Given the description of an element on the screen output the (x, y) to click on. 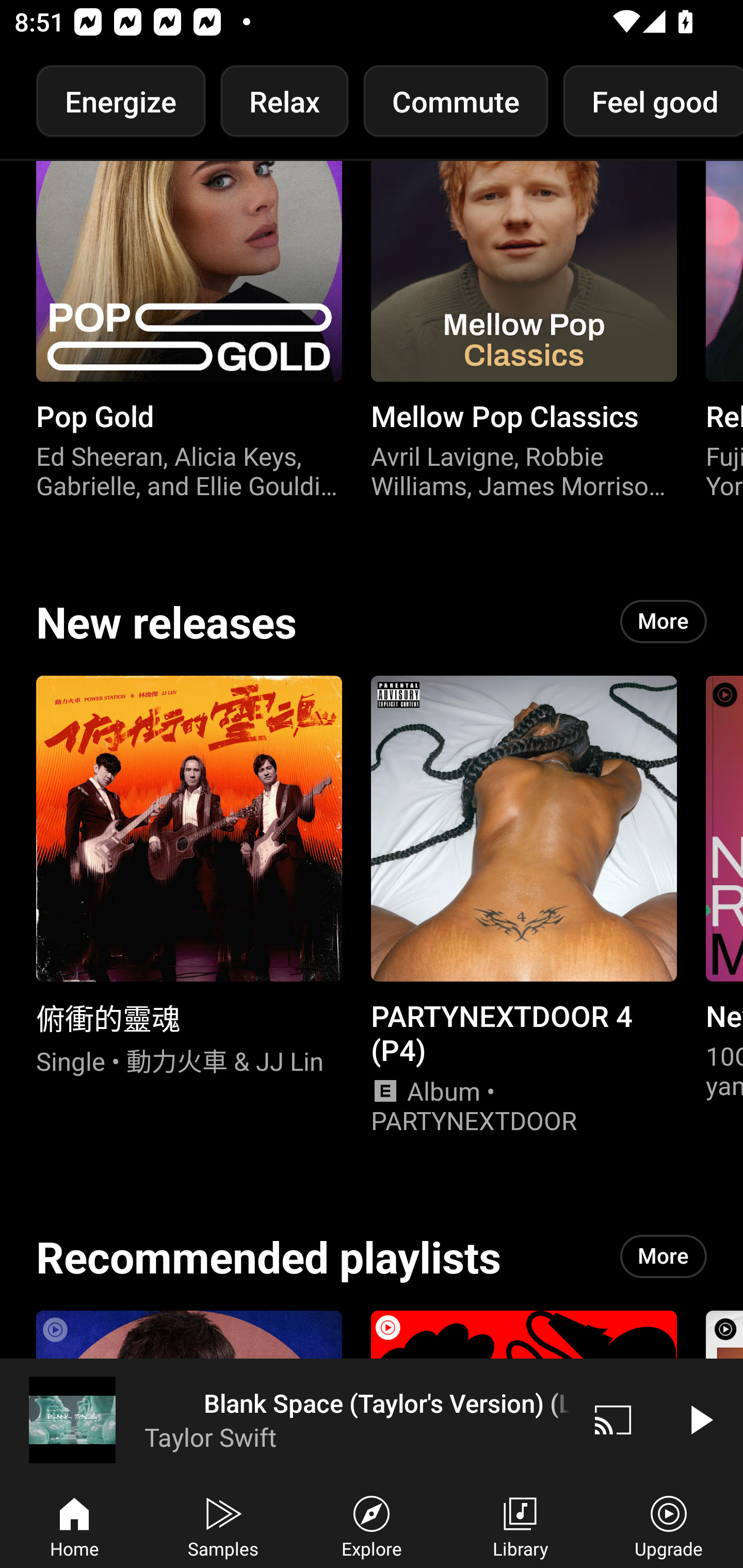
Cast. Disconnected (612, 1419)
Play video (699, 1419)
Home (74, 1524)
Samples (222, 1524)
Explore (371, 1524)
Library (519, 1524)
Upgrade (668, 1524)
